Given the description of an element on the screen output the (x, y) to click on. 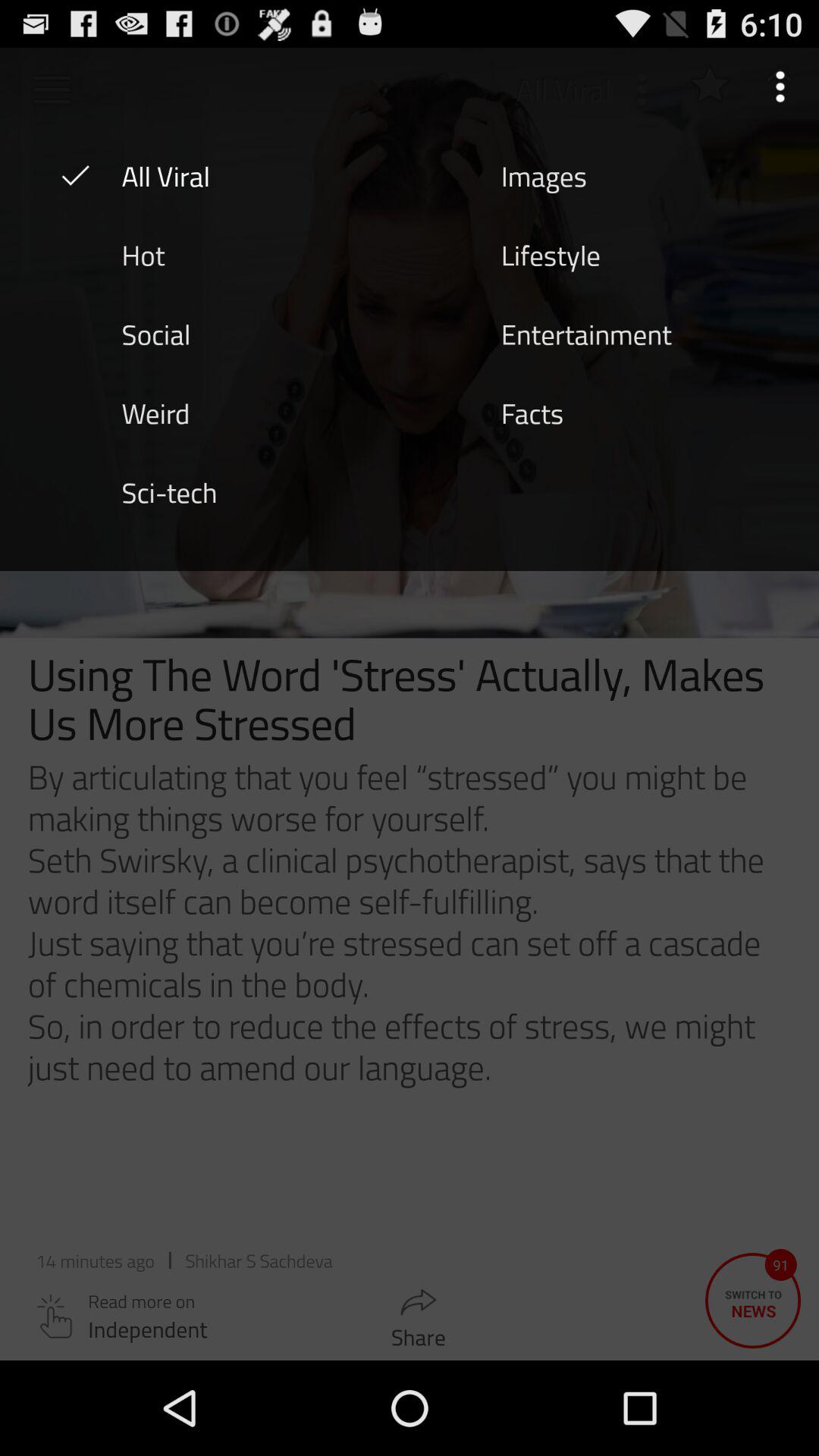
jump until social item (155, 332)
